Given the description of an element on the screen output the (x, y) to click on. 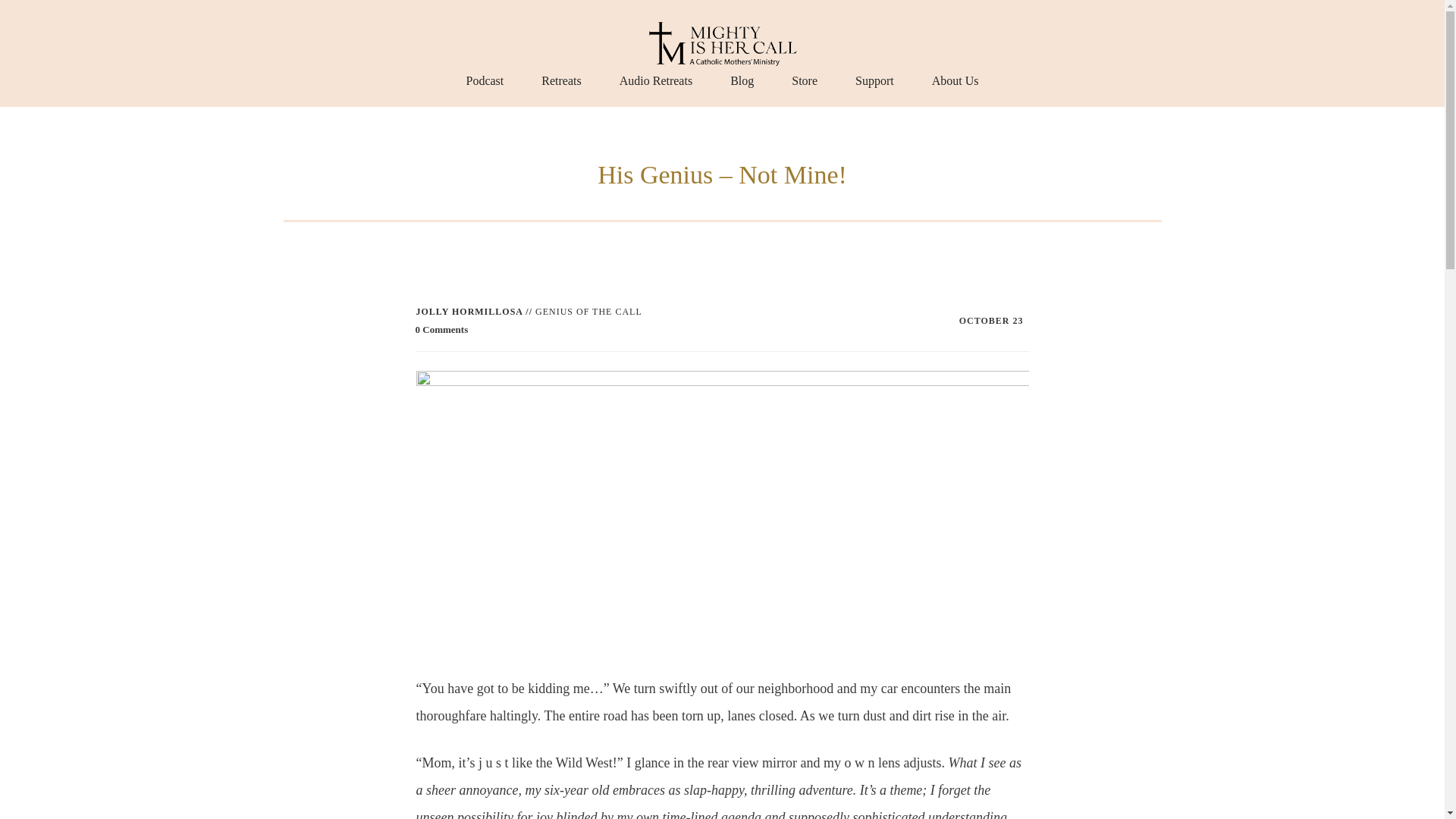
Podcast (484, 80)
About Us (954, 80)
Blog (742, 80)
Retreats (560, 80)
Genius of the Call (588, 311)
Support (874, 80)
Store (804, 80)
Audio Retreats (656, 80)
GENIUS OF THE CALL (588, 311)
